Given the description of an element on the screen output the (x, y) to click on. 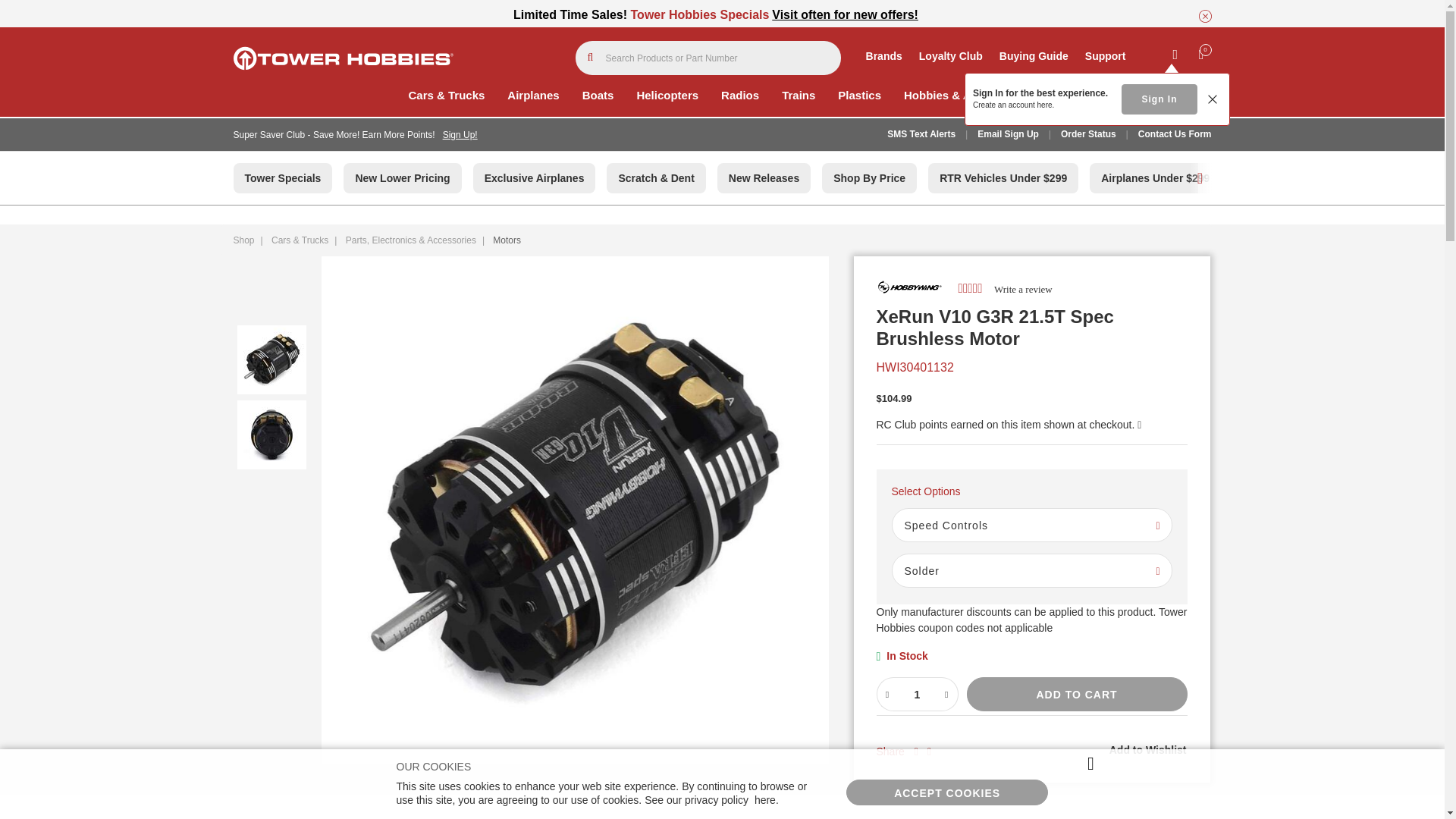
Tower Hobbies Home (342, 58)
1 (916, 694)
ICON-CLOSE (1204, 15)
